Given the description of an element on the screen output the (x, y) to click on. 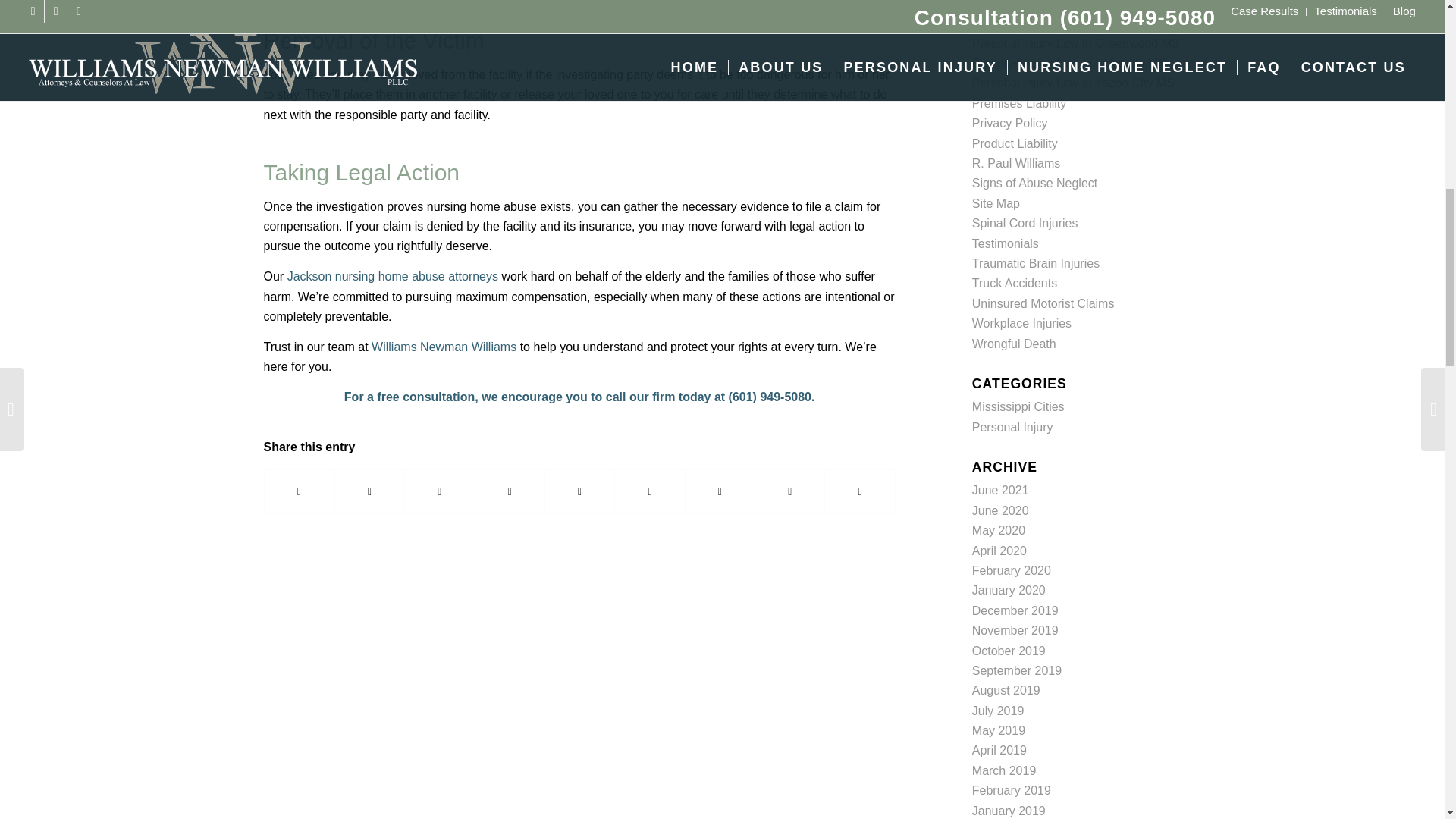
free consultation (425, 396)
Williams Newman Williams (443, 346)
Jackson nursing home abuse attorneys (391, 276)
